Given the description of an element on the screen output the (x, y) to click on. 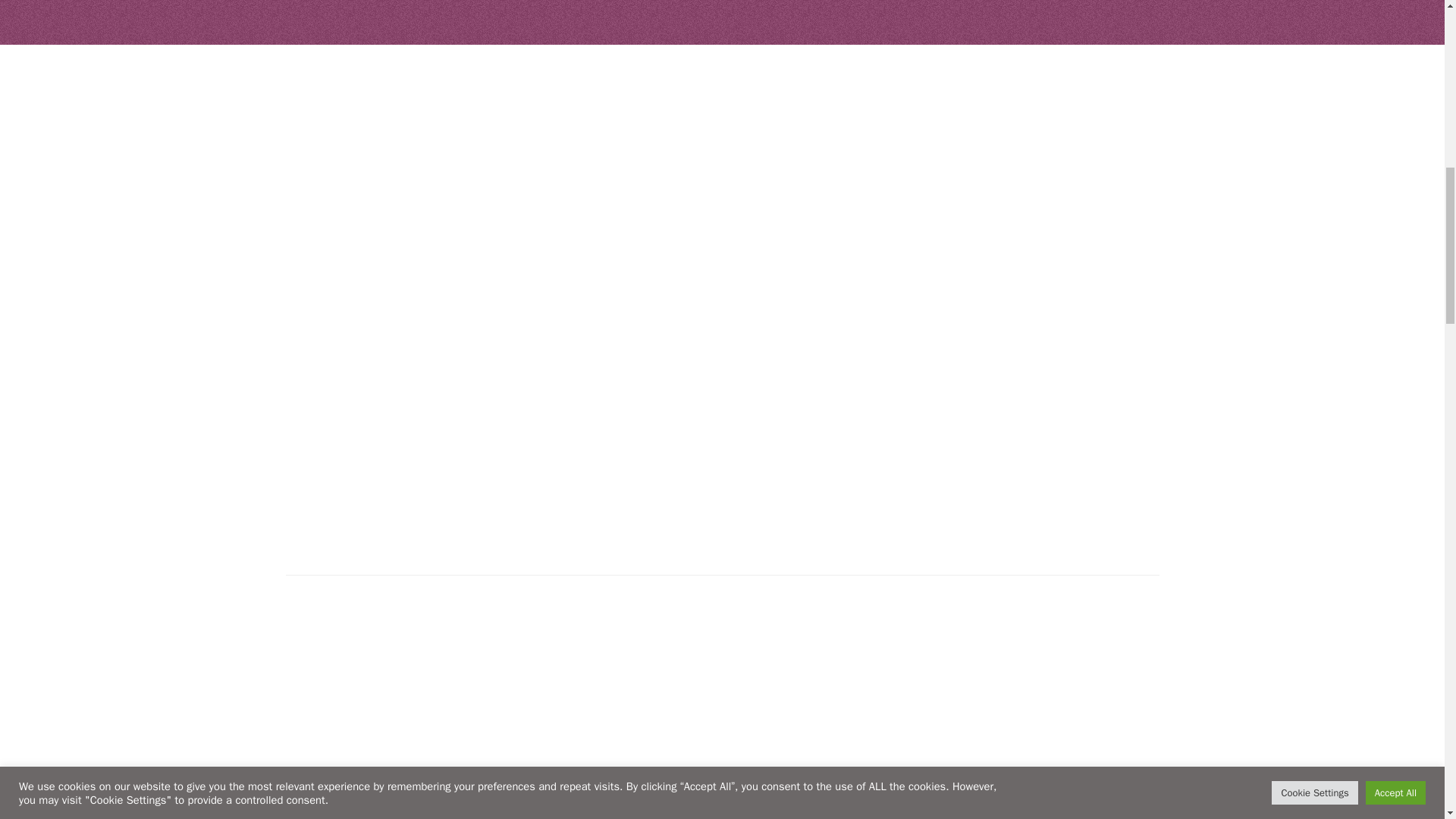
Scroll back to top (1406, 720)
